Given the description of an element on the screen output the (x, y) to click on. 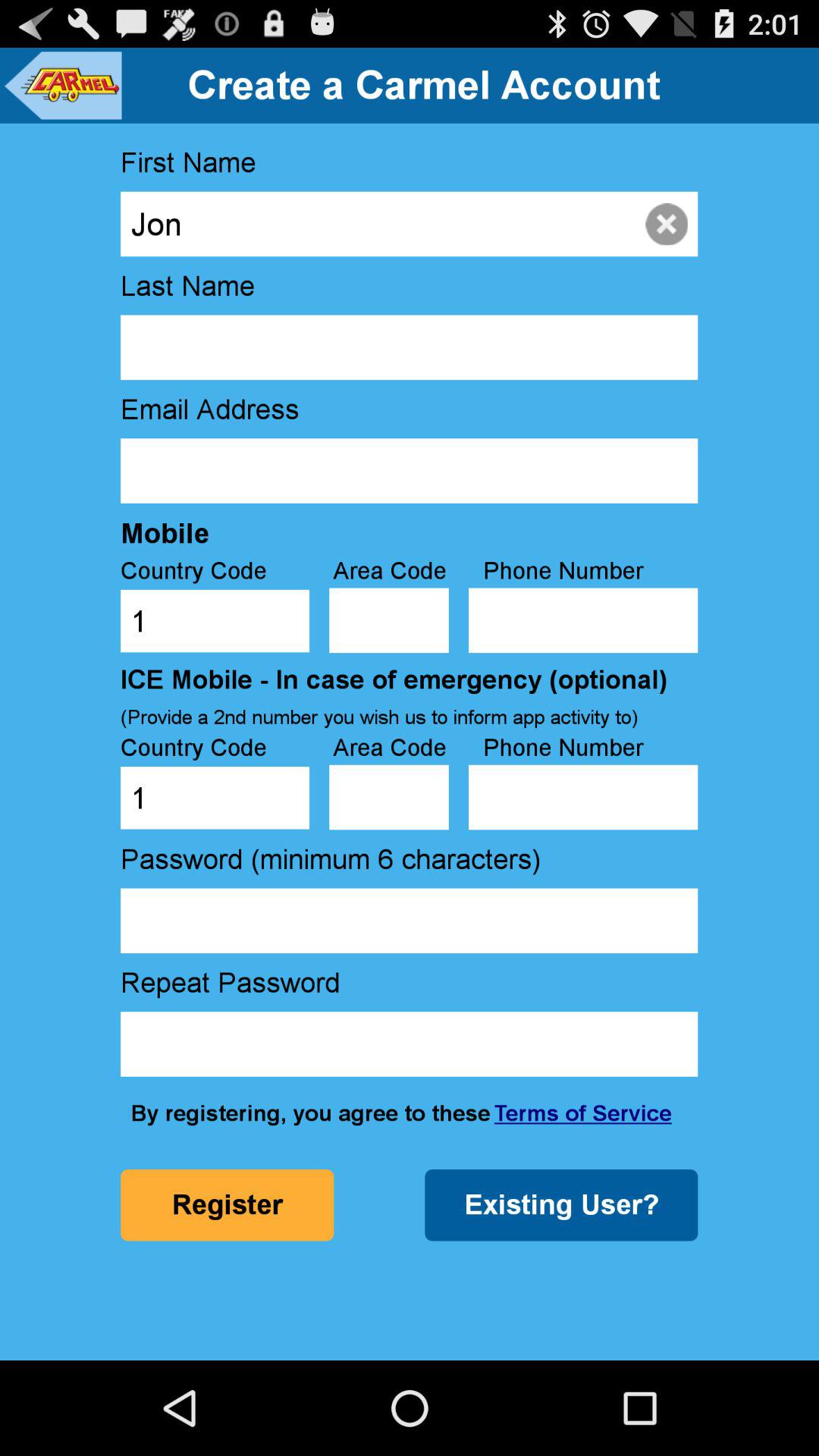
turn on the item next to by registering you icon (582, 1113)
